Given the description of an element on the screen output the (x, y) to click on. 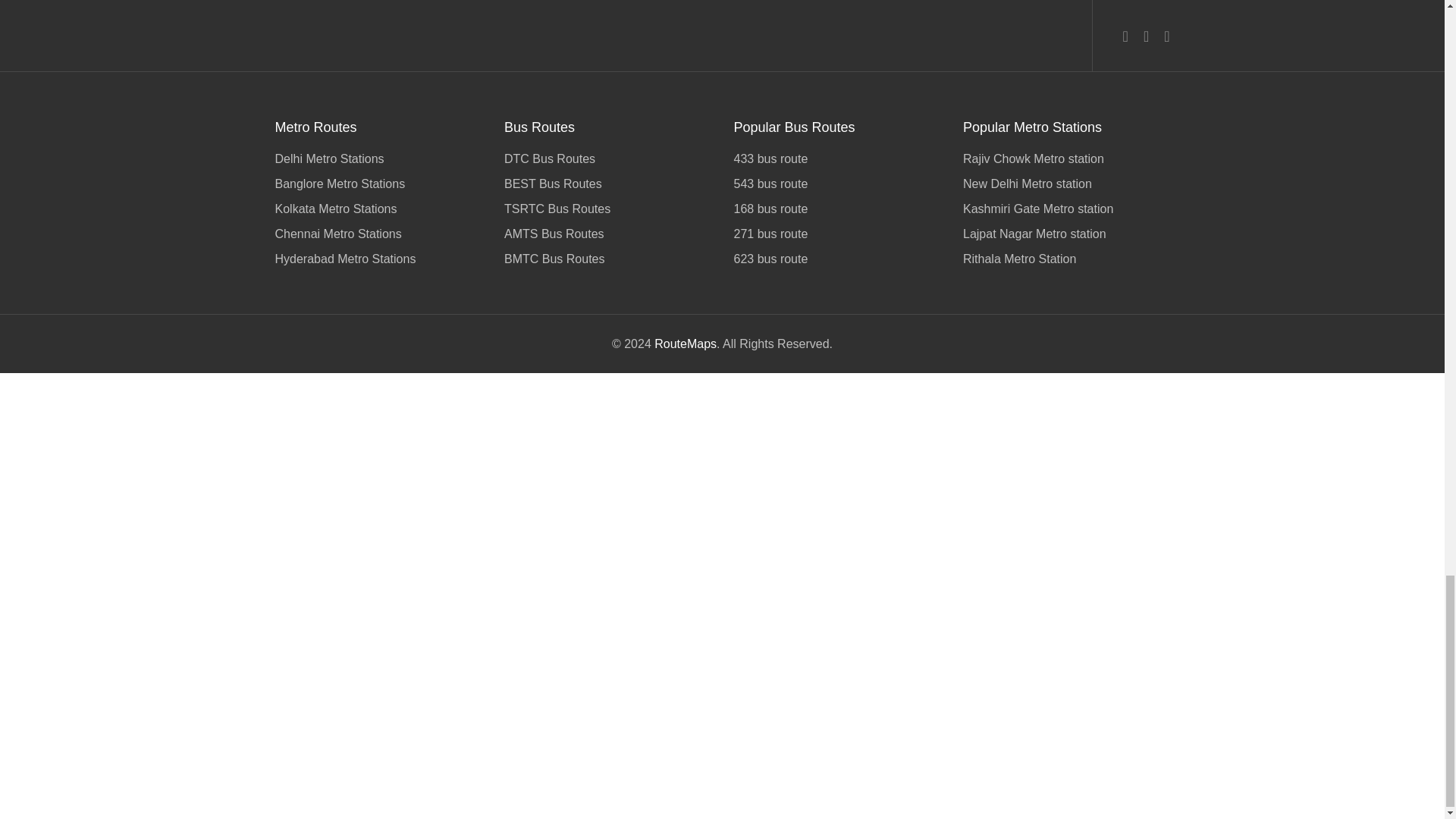
AMTS Bus Routes (607, 233)
433 bus route (836, 160)
Delhi Metro Stations (378, 160)
BMTC Bus Routes (607, 257)
271 bus route (836, 233)
Facebook (1125, 35)
New Delhi Metro station (1066, 183)
BEST Bus Routes (607, 183)
TSRTC Bus Routes (607, 208)
Rajiv Chowk Metro station (1066, 160)
